Given the description of an element on the screen output the (x, y) to click on. 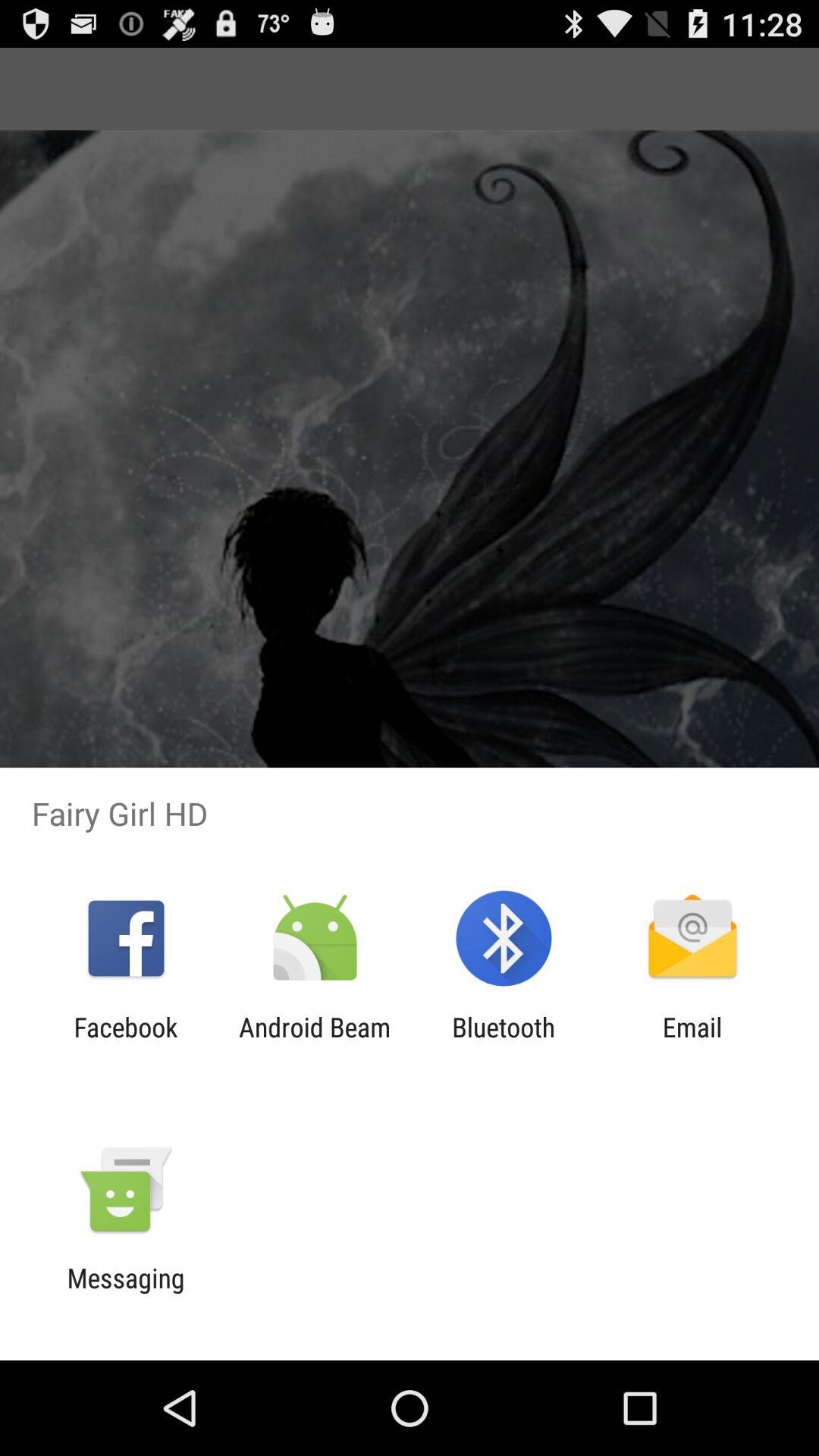
select icon to the right of the bluetooth (692, 1042)
